Given the description of an element on the screen output the (x, y) to click on. 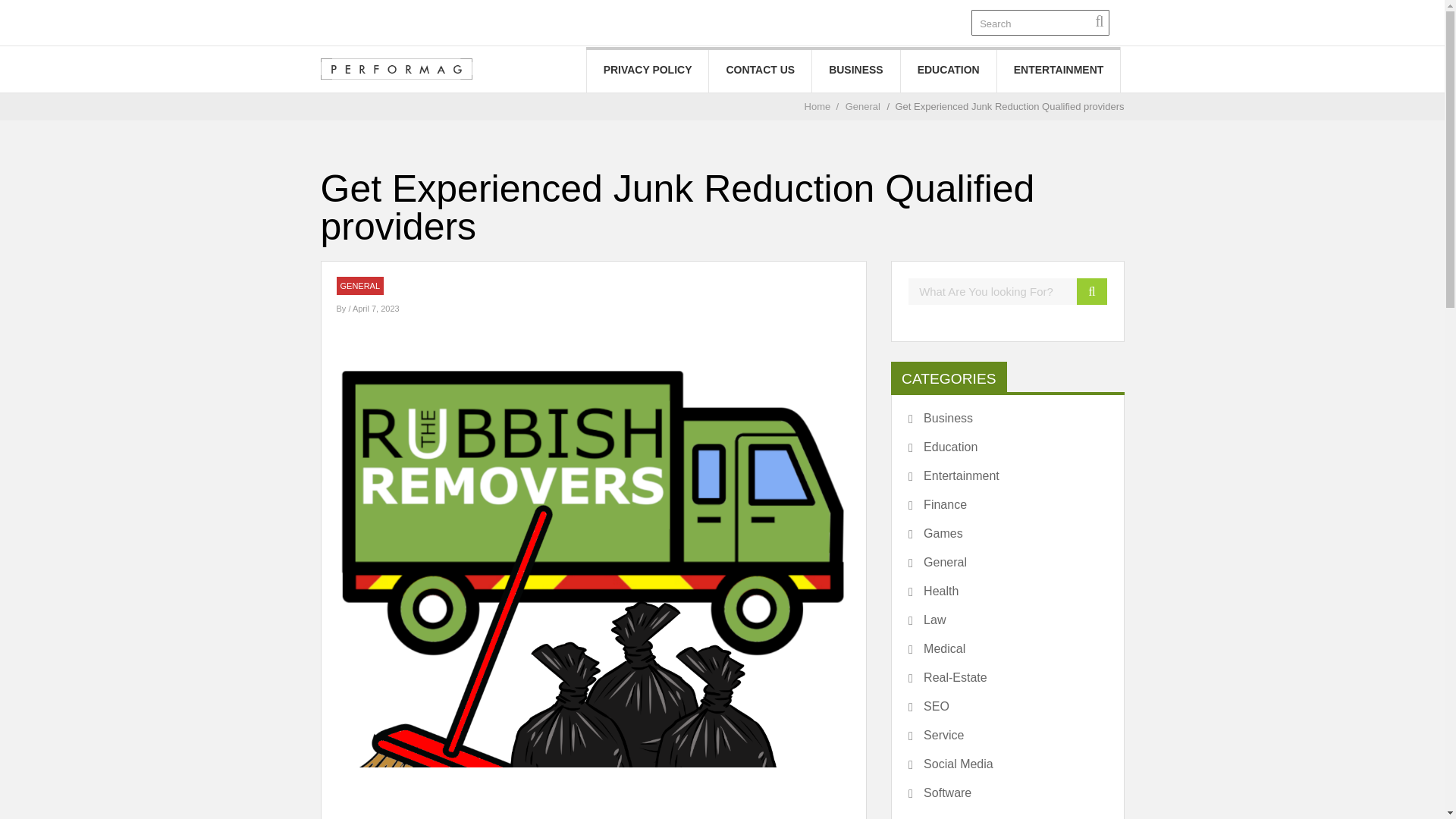
BUSINESS (855, 69)
Entertainment (953, 476)
Home (818, 106)
Health (933, 591)
PRIVACY POLICY (647, 69)
ENTERTAINMENT (1059, 69)
Law (926, 620)
EDUCATION (948, 69)
Business (940, 418)
Education (942, 447)
Medical (936, 649)
Social Media (950, 764)
Finance (937, 504)
GENERAL (359, 285)
